Given the description of an element on the screen output the (x, y) to click on. 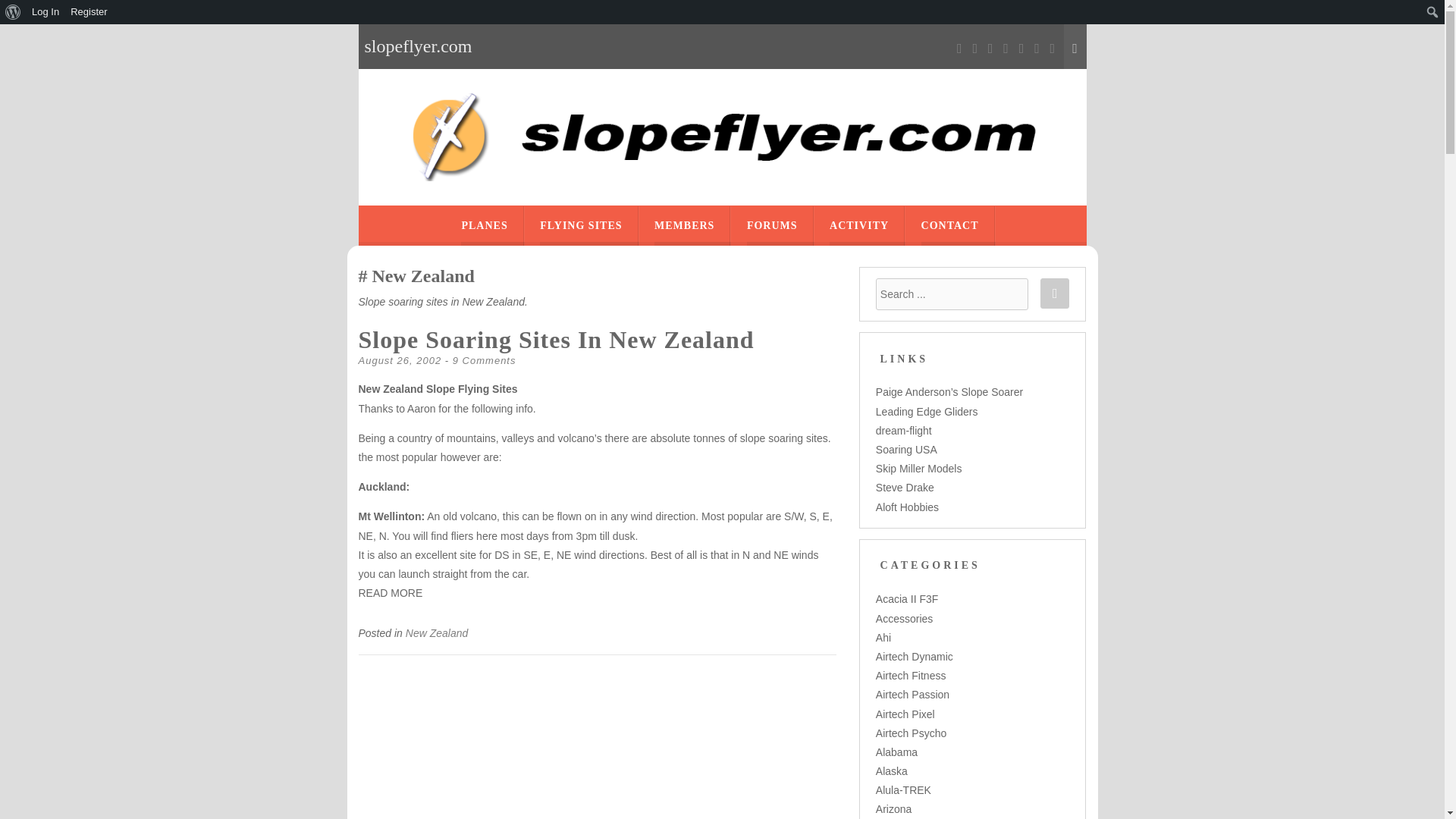
MEMBERS (683, 225)
ACTIVITY (858, 225)
PLANES (483, 225)
FORUMS (771, 225)
Slope Soaring Sites In New Zealand (556, 338)
FLYING SITES (580, 225)
CONTACT (949, 225)
